Given the description of an element on the screen output the (x, y) to click on. 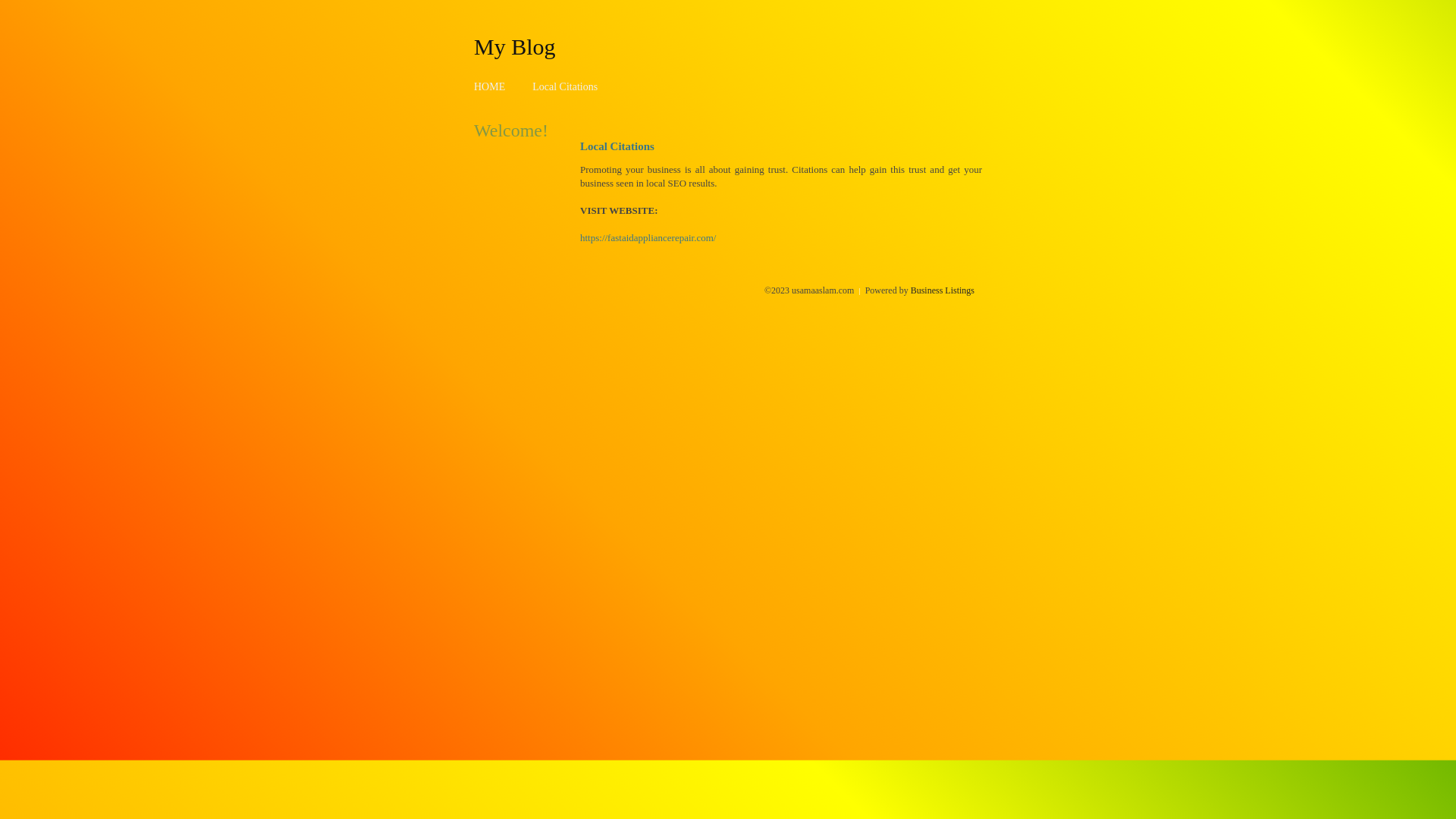
Business Listings Element type: text (942, 290)
https://fastaidappliancerepair.com/ Element type: text (647, 237)
Local Citations Element type: text (564, 86)
HOME Element type: text (489, 86)
My Blog Element type: text (514, 46)
